Given the description of an element on the screen output the (x, y) to click on. 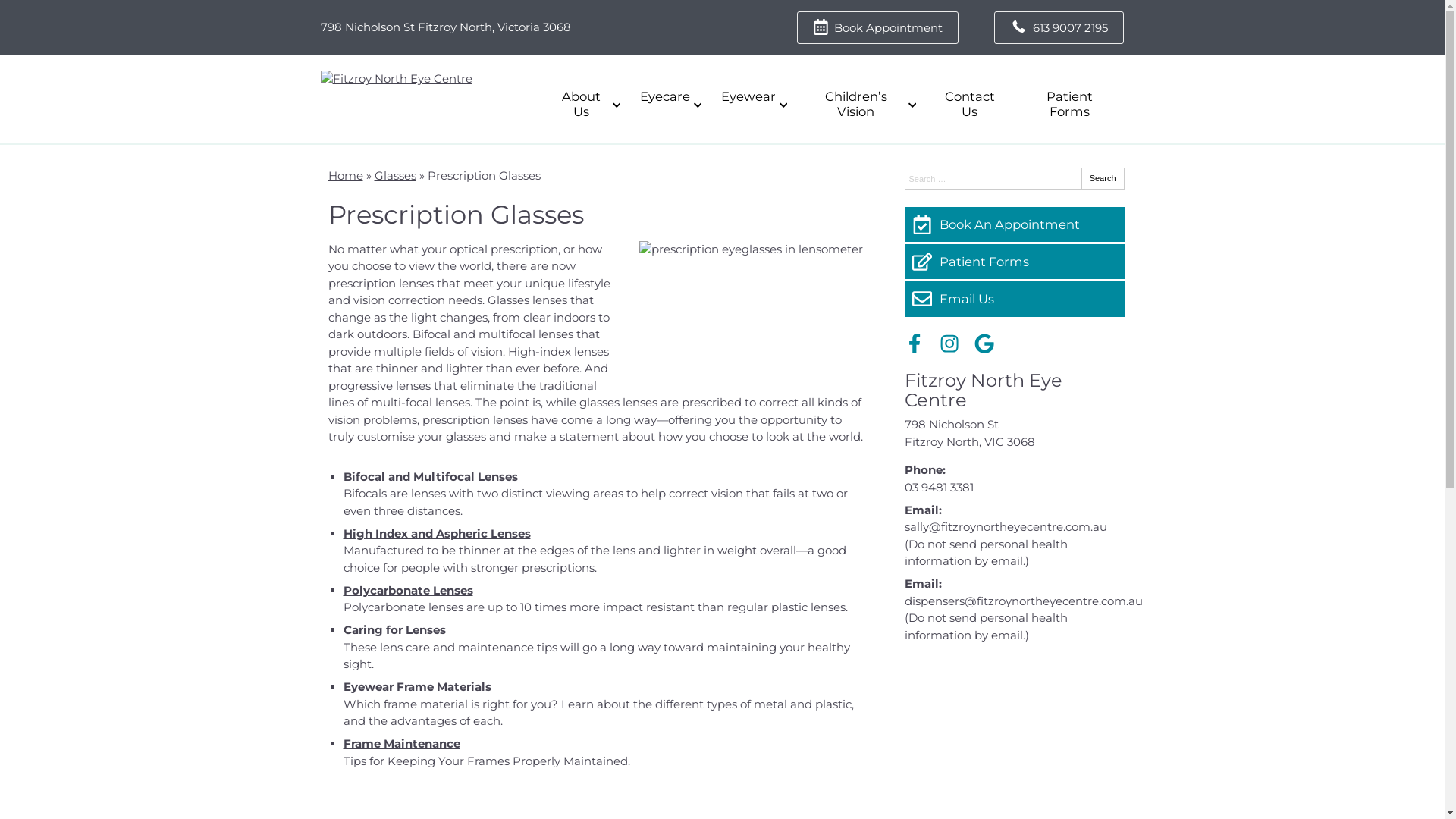
Search Element type: text (1102, 178)
Eyewear Element type: text (751, 96)
dispensers@fitzroynortheyecentre.com.au Element type: text (1022, 600)
Polycarbonate Lenses Element type: text (407, 590)
High Index and Aspheric Lenses Element type: text (436, 533)
Home Element type: text (344, 175)
sally@fitzroynortheyecentre.com.au Element type: text (1004, 526)
Eyecare Element type: text (668, 96)
Contact Us Element type: text (968, 104)
Glasses Element type: text (395, 175)
Book An Appointment Element type: text (1013, 224)
About Us Element type: text (584, 104)
Frame Maintenance Element type: text (400, 743)
798 Nicholson St Fitzroy North, Victoria 3068 Element type: text (445, 26)
Caring for Lenses Element type: text (393, 629)
Book Appointment Element type: text (877, 27)
Fitzroy North Eye Centre Element type: text (982, 390)
Bifocal and Multifocal Lenses Element type: text (429, 476)
Patient Forms Element type: text (1013, 261)
Email Us Element type: text (1013, 298)
Google map Element type: hover (1013, 730)
Patient Forms Element type: text (1069, 104)
03 9481 3381 Element type: text (937, 487)
Eyewear Frame Materials Element type: text (416, 686)
613 9007 2195 Element type: text (1058, 27)
